Given the description of an element on the screen output the (x, y) to click on. 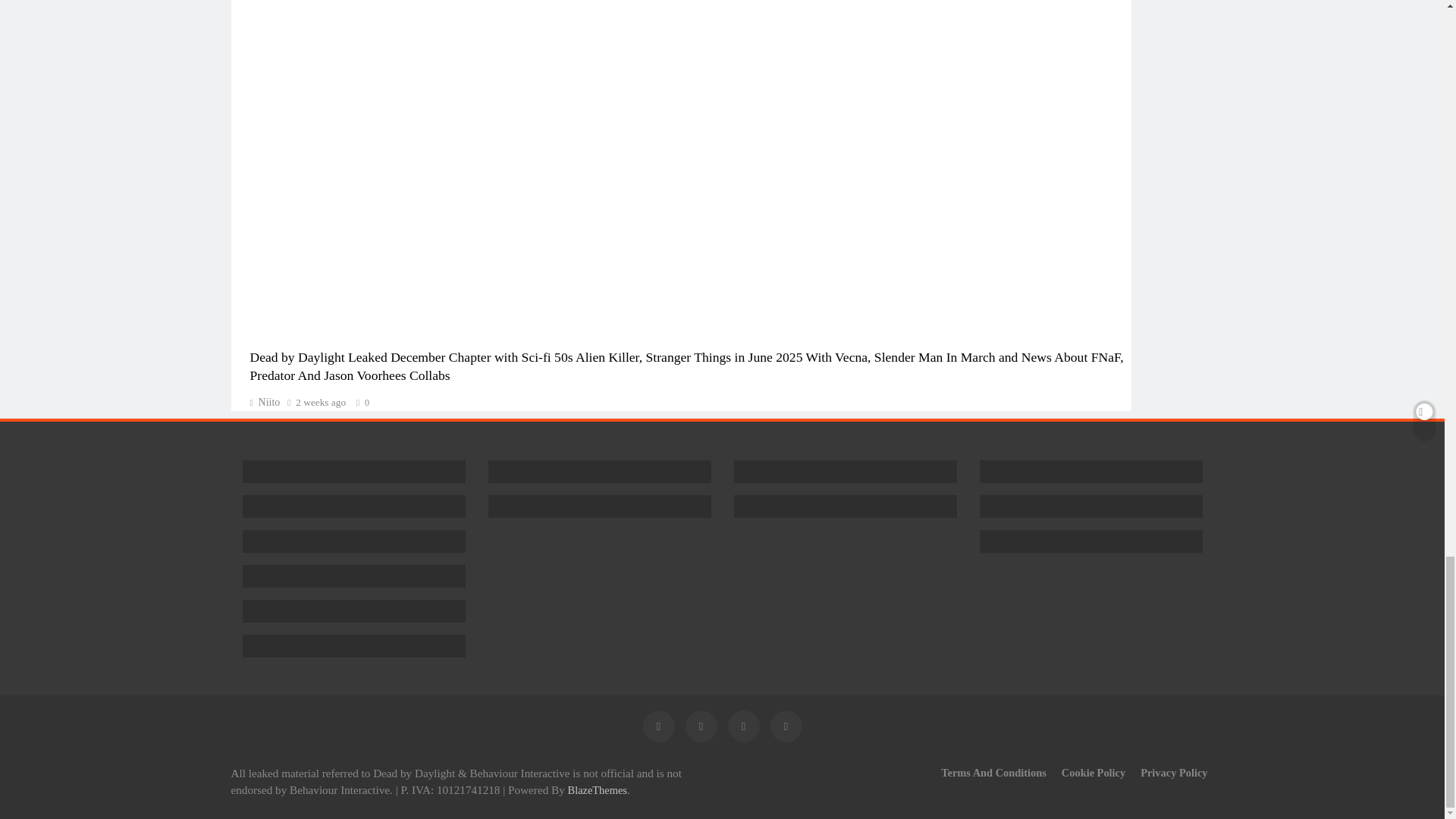
2 weeks ago (320, 402)
Niito (265, 401)
